Given the description of an element on the screen output the (x, y) to click on. 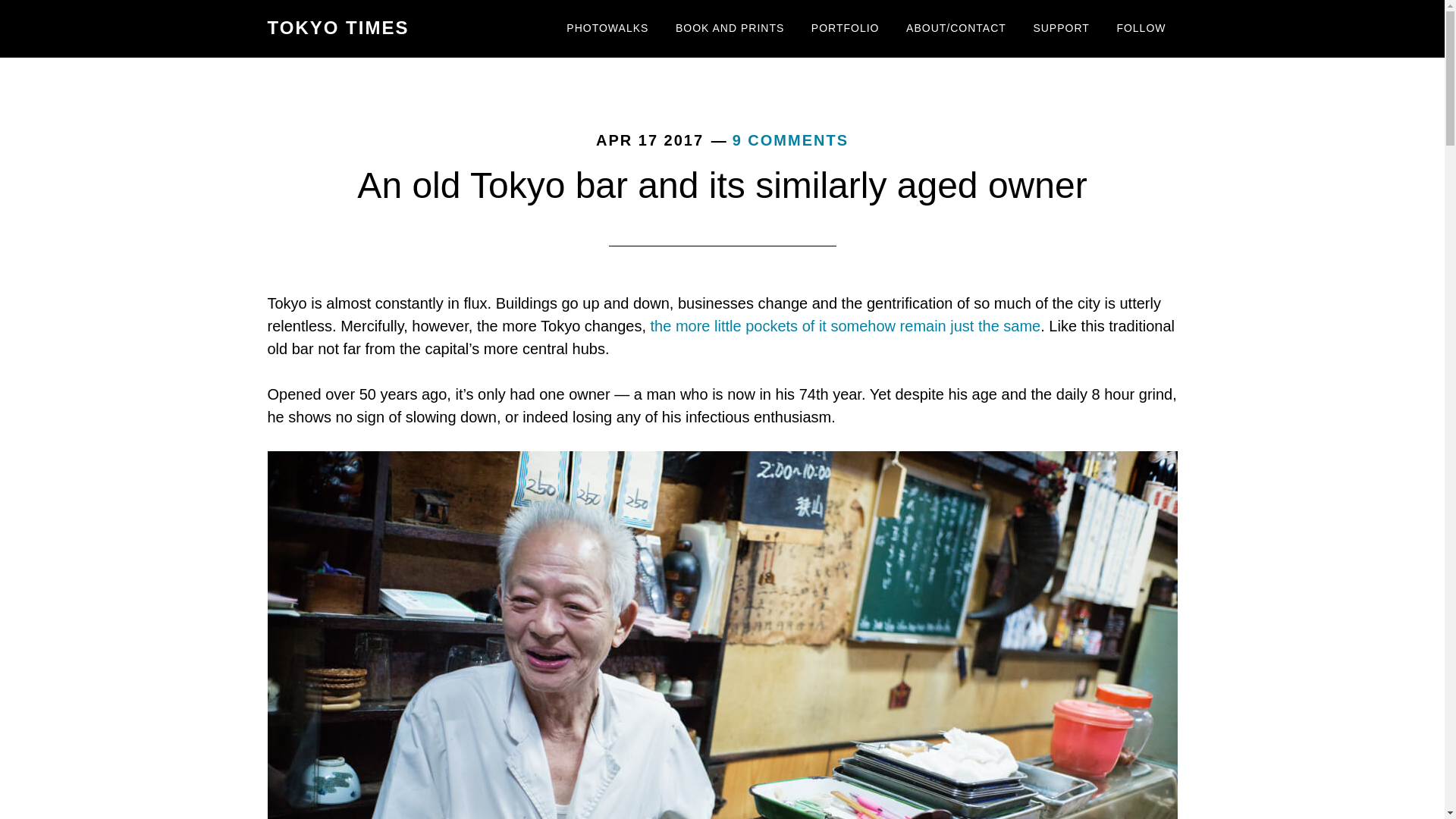
PHOTOWALKS (606, 28)
TOKYO TIMES (337, 27)
PORTFOLIO (845, 28)
BOOK AND PRINTS (728, 28)
the more little pockets of it somehow remain just the same (845, 325)
FOLLOW (1140, 28)
SUPPORT (1061, 28)
9 COMMENTS (790, 139)
